Given the description of an element on the screen output the (x, y) to click on. 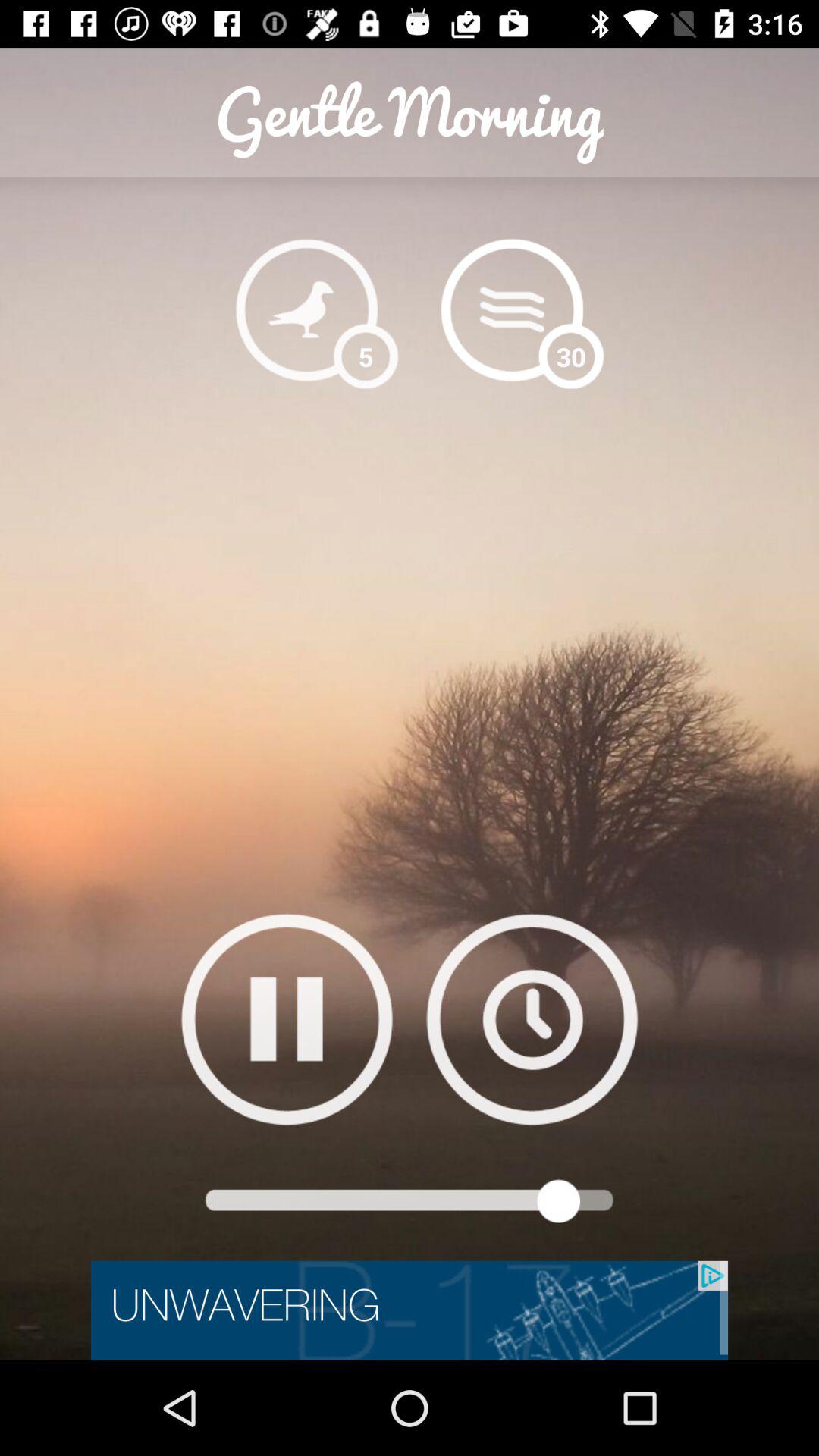
pause button (286, 1018)
